Given the description of an element on the screen output the (x, y) to click on. 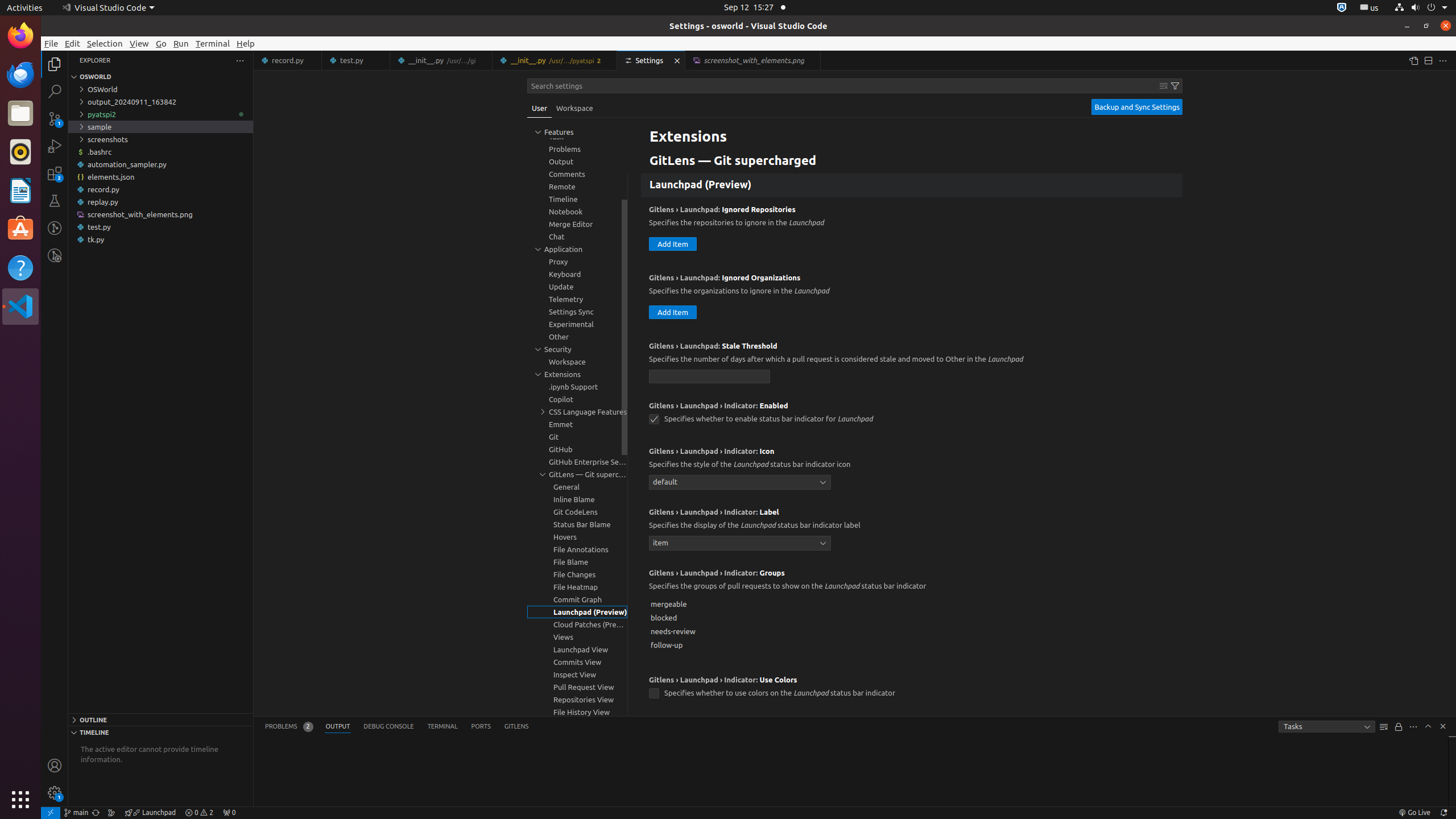
Inspect View, group Element type: tree-item (577, 674)
Clear Output Element type: push-button (1383, 726)
General, group Element type: tree-item (577, 486)
screenshot_with_elements.png, preview Element type: page-tab (753, 60)
Inline Blame, group Element type: tree-item (577, 499)
